Given the description of an element on the screen output the (x, y) to click on. 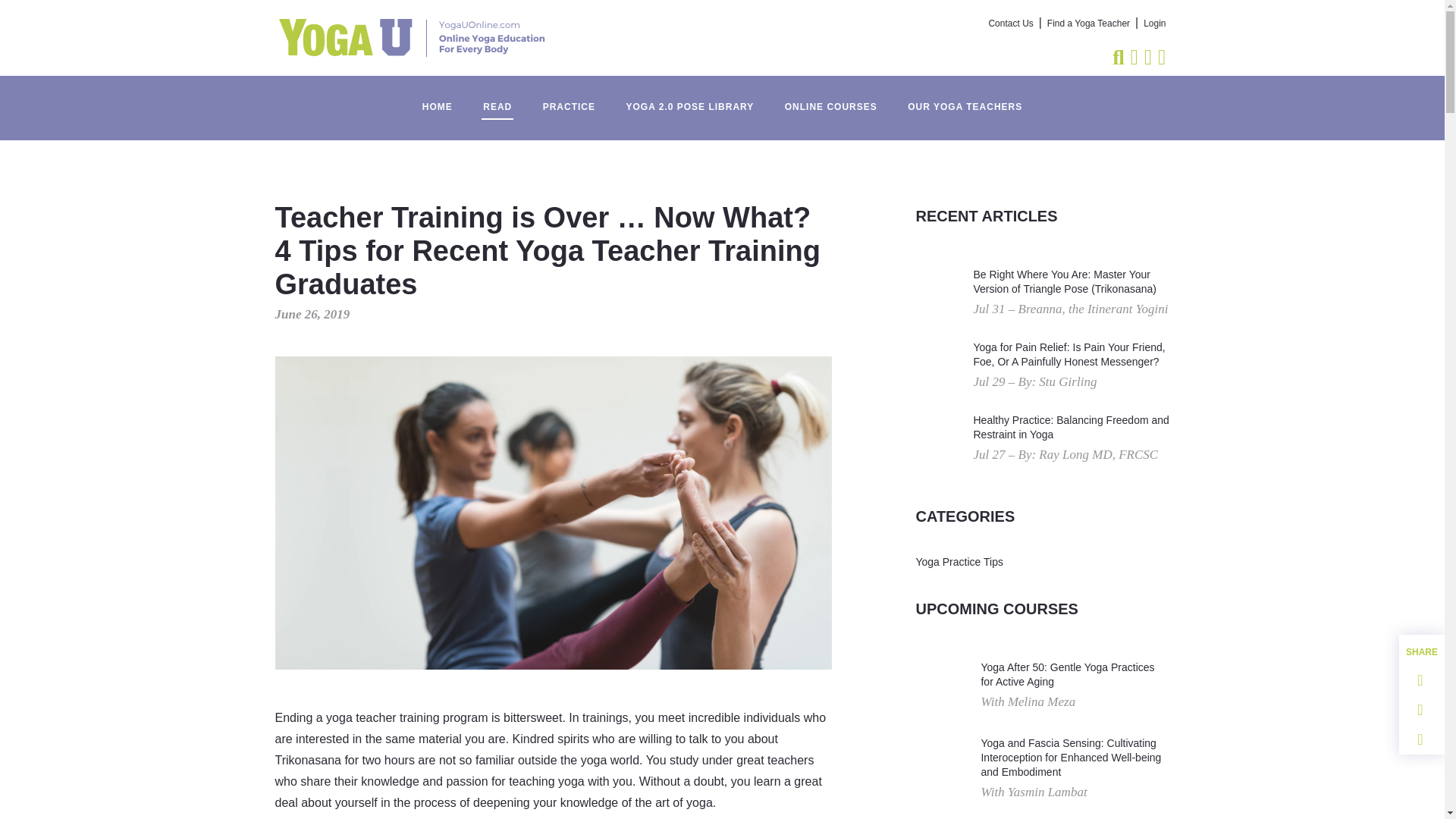
READ (496, 99)
YOGA 2.0 POSE LIBRARY (689, 99)
PRACTICE (568, 99)
Find a Yoga Teacher (1088, 23)
Contact Us (1011, 23)
ONLINE COURSES (831, 99)
OUR YOGA TEACHERS (964, 99)
HOME (437, 99)
